Given the description of an element on the screen output the (x, y) to click on. 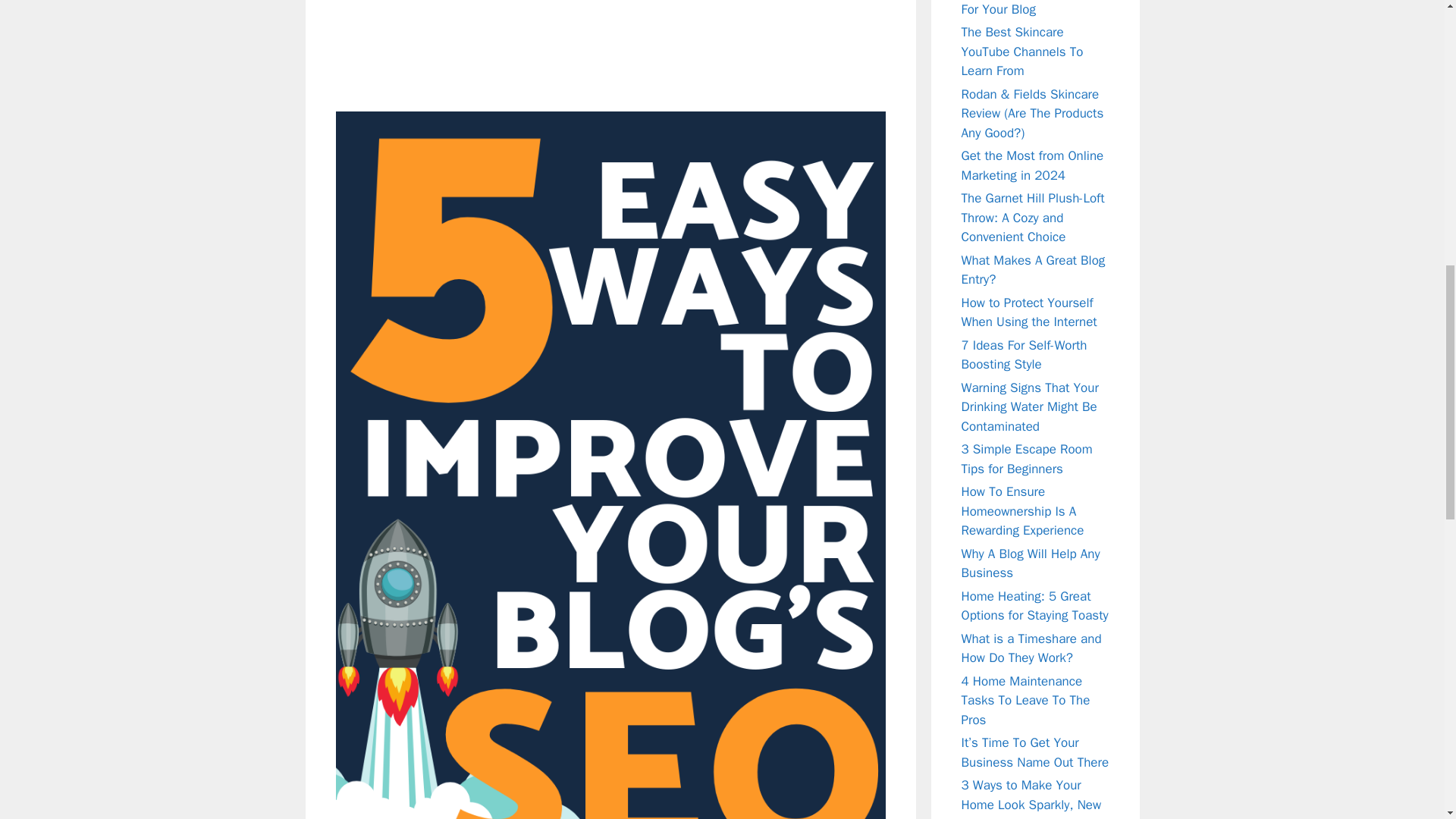
How to Protect Yourself When Using the Internet (1028, 312)
How To Ensure Homeownership Is A Rewarding Experience (1022, 511)
Warning Signs That Your Drinking Water Might Be Contaminated (1029, 406)
3 Ways to Make Your Home Look Sparkly, New and Amazing (1031, 798)
What Makes A Great Blog Entry? (1032, 269)
What is a Timeshare and How Do They Work? (1031, 648)
3 Simple Escape Room Tips for Beginners (1026, 458)
7 Ideas For Self-Worth Boosting Style (1023, 354)
Get the Most from Online Marketing in 2024 (1031, 165)
4 Home Maintenance Tasks To Leave To The Pros (1025, 700)
The Best Skincare YouTube Channels To Learn From (1021, 51)
Why A Blog Will Help Any Business (1030, 563)
8 Skincare Content Ideas For Your Blog (1031, 8)
Home Heating: 5 Great Options for Staying Toasty (1034, 606)
